Given the description of an element on the screen output the (x, y) to click on. 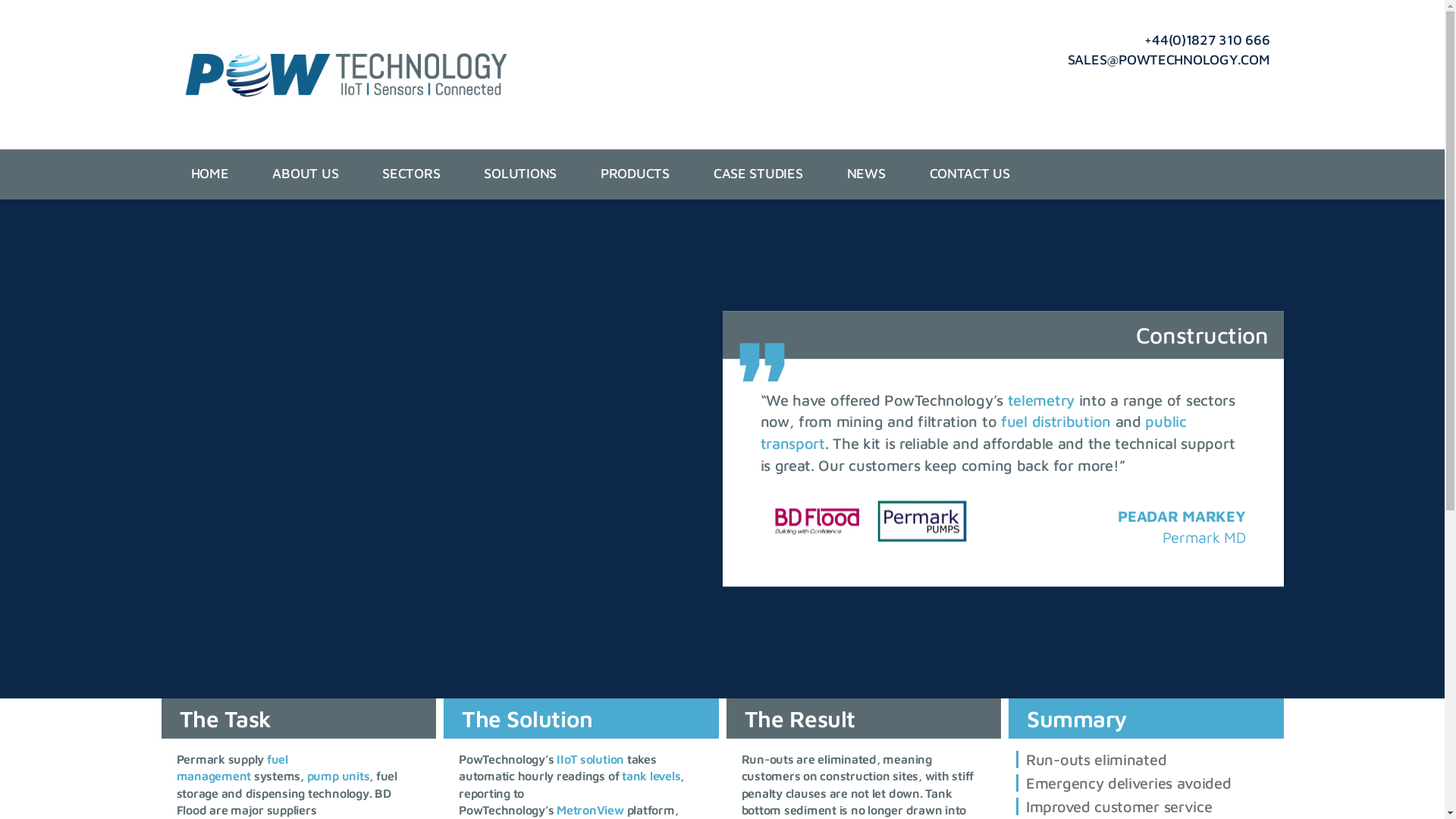
Fuel Management (1055, 420)
SECTORS (410, 174)
Transport (973, 432)
IIoT Digital Transformation Solutions (1040, 398)
ABOUT US (304, 174)
MetronView IIoT Platform (590, 809)
Remote Tank Level Monitoring (650, 775)
HOME (209, 174)
Fuel Management (231, 767)
PRODUCTS (634, 174)
SOLUTIONS (519, 174)
